Given the description of an element on the screen output the (x, y) to click on. 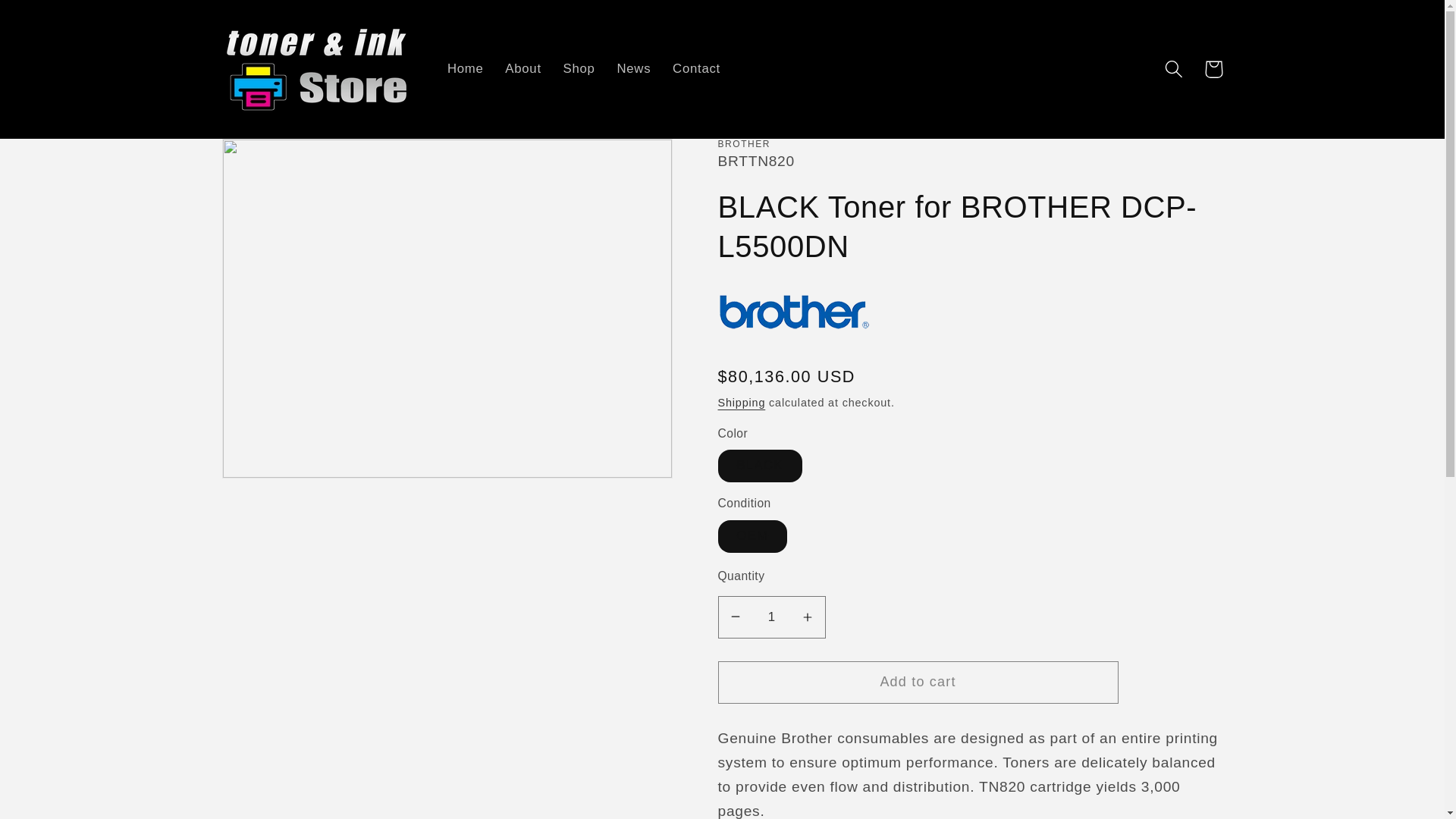
Shop (578, 69)
About (523, 69)
Contact (697, 69)
Shipping (741, 402)
Add to cart (917, 681)
Skip to content (55, 20)
1 (771, 617)
Home (465, 69)
